Given the description of an element on the screen output the (x, y) to click on. 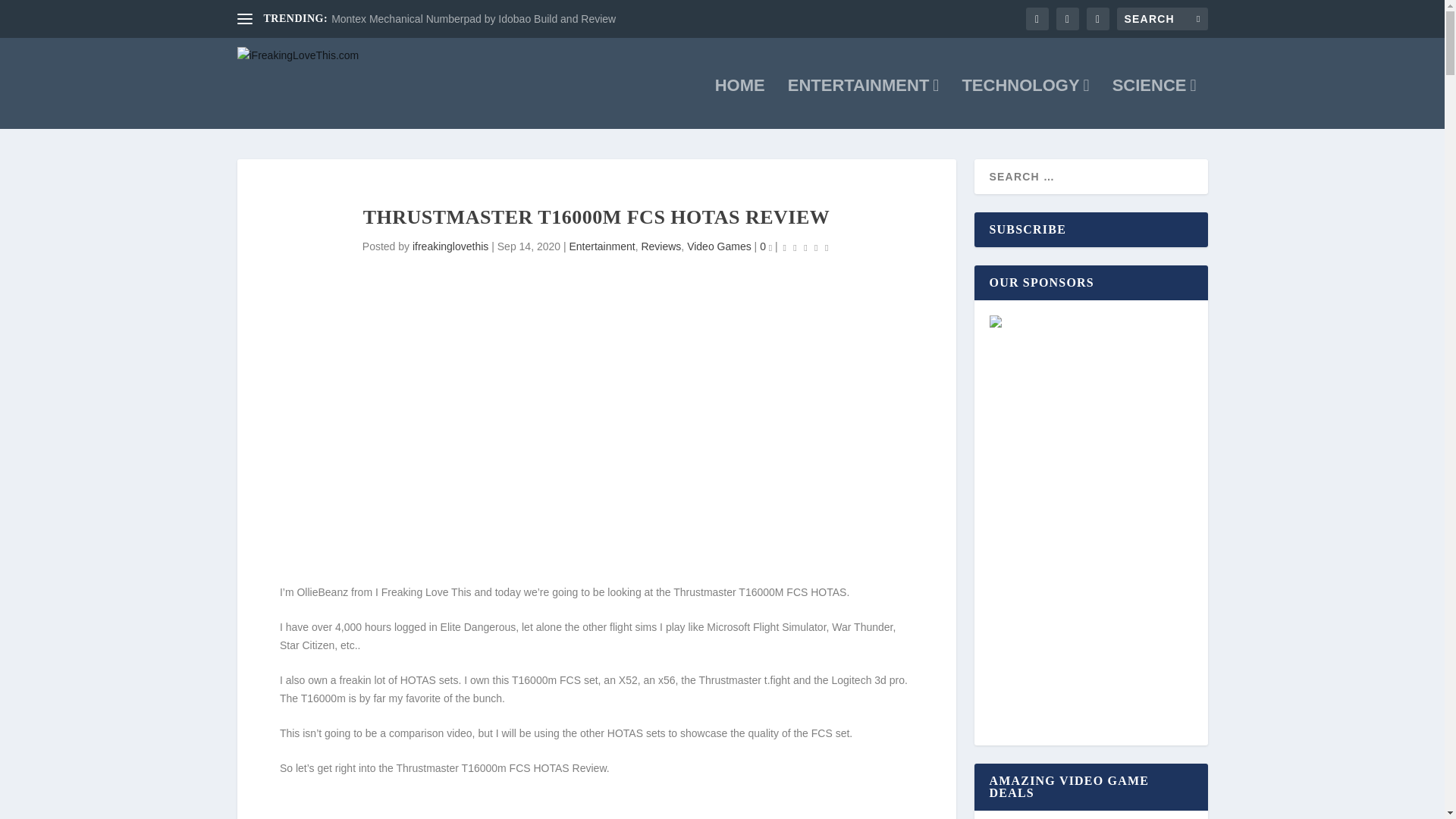
TECHNOLOGY (1024, 103)
Montex Mechanical Numberpad by Idobao Build and Review (473, 19)
HOME (739, 103)
ENTERTAINMENT (863, 103)
Search for: (1161, 18)
